Given the description of an element on the screen output the (x, y) to click on. 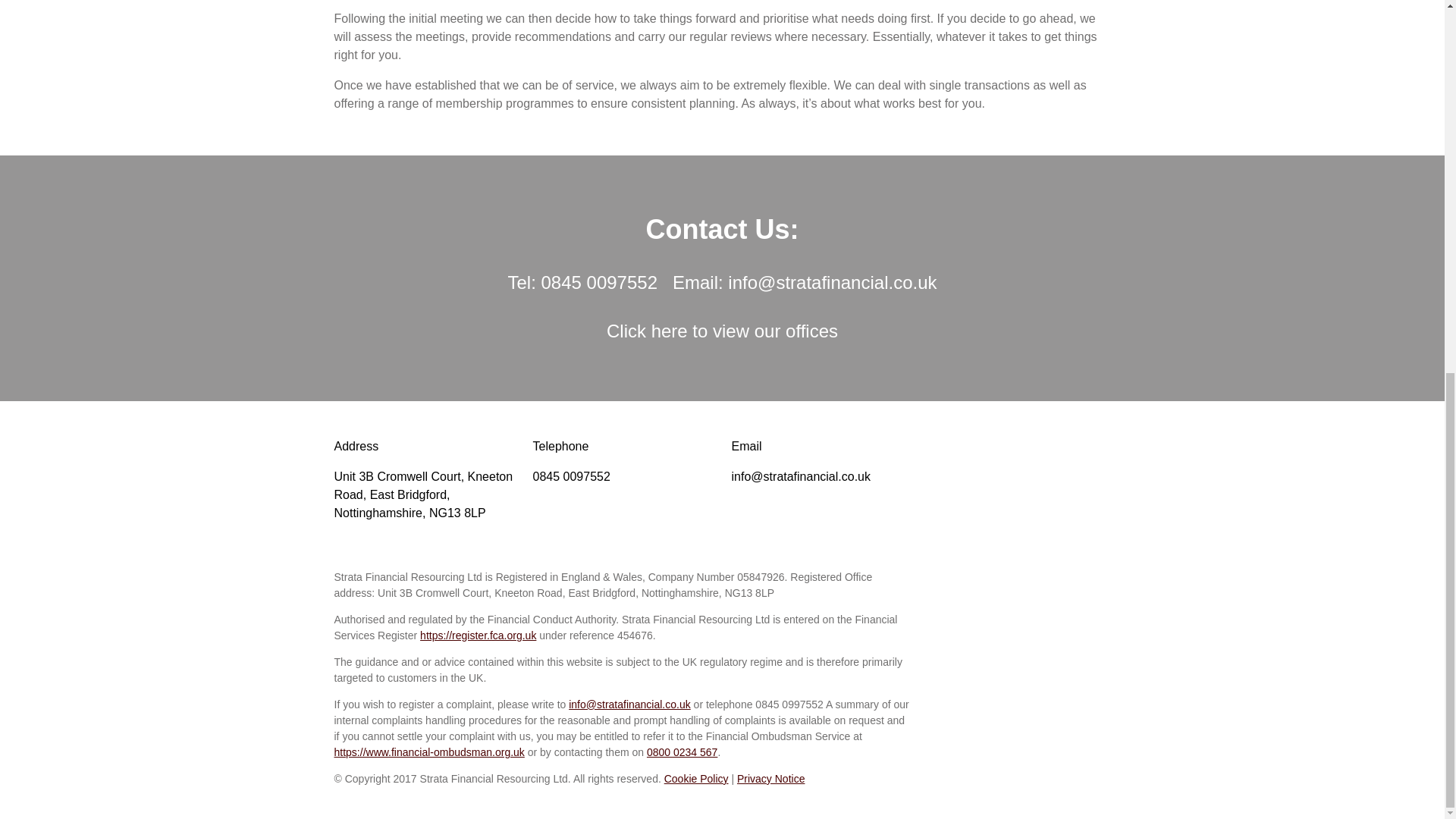
0800 0234 567 (681, 752)
0845 0097552 (571, 476)
Privacy Notice (770, 778)
Click here to view our offices (722, 331)
Cookie Policy (696, 778)
